Given the description of an element on the screen output the (x, y) to click on. 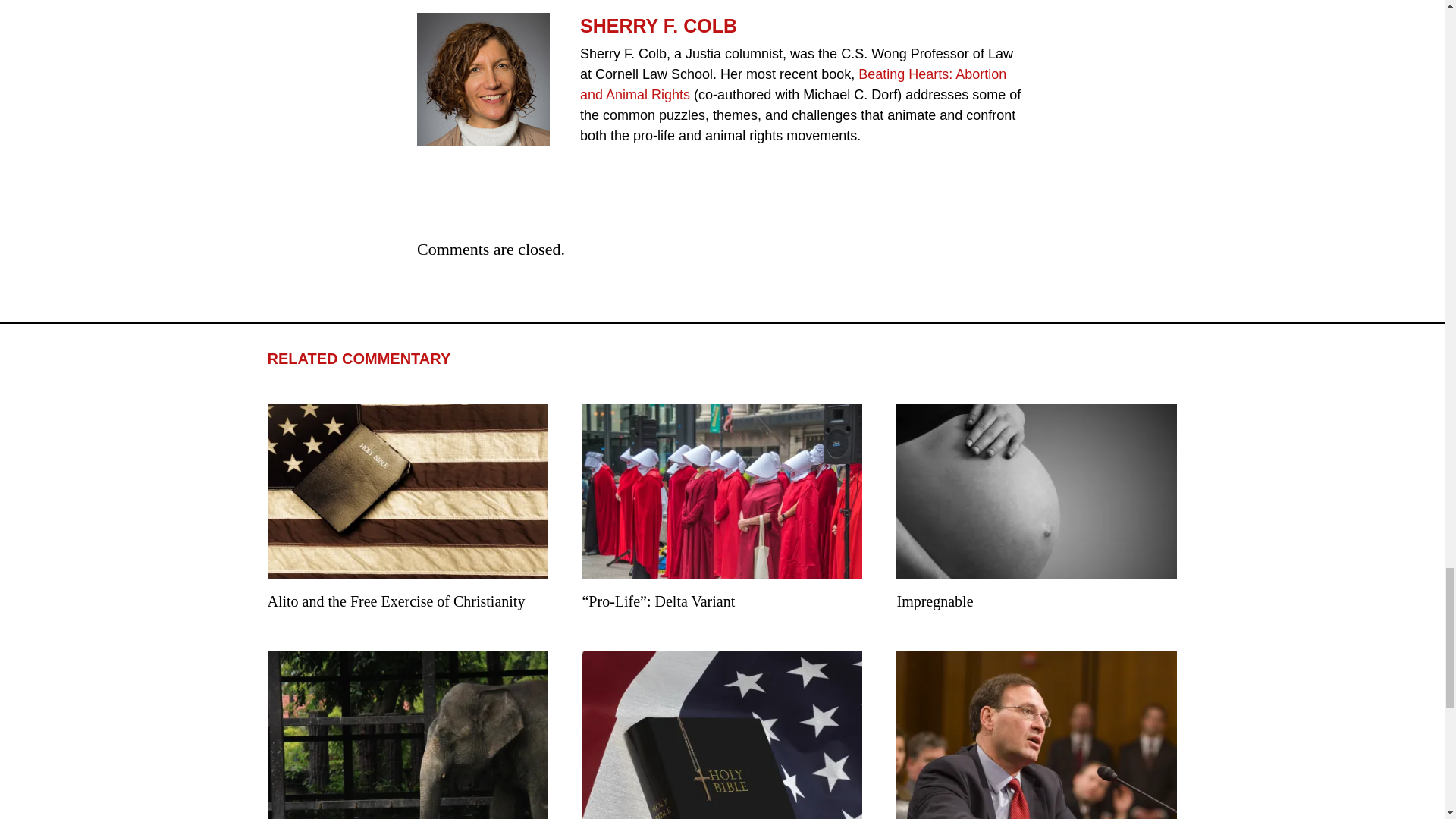
Sherry F. Colb (483, 79)
Beating Hearts: Abortion and Animal Rights (792, 84)
Alito and the Free Exercise of Christianity (406, 510)
Are Religious Abortions Protected? (720, 726)
Happy the Elephant and Might Makes Right (406, 726)
Impregnable (1036, 510)
SHERRY F. COLB (803, 26)
Alito, Rape, and Incest (1036, 726)
